Given the description of an element on the screen output the (x, y) to click on. 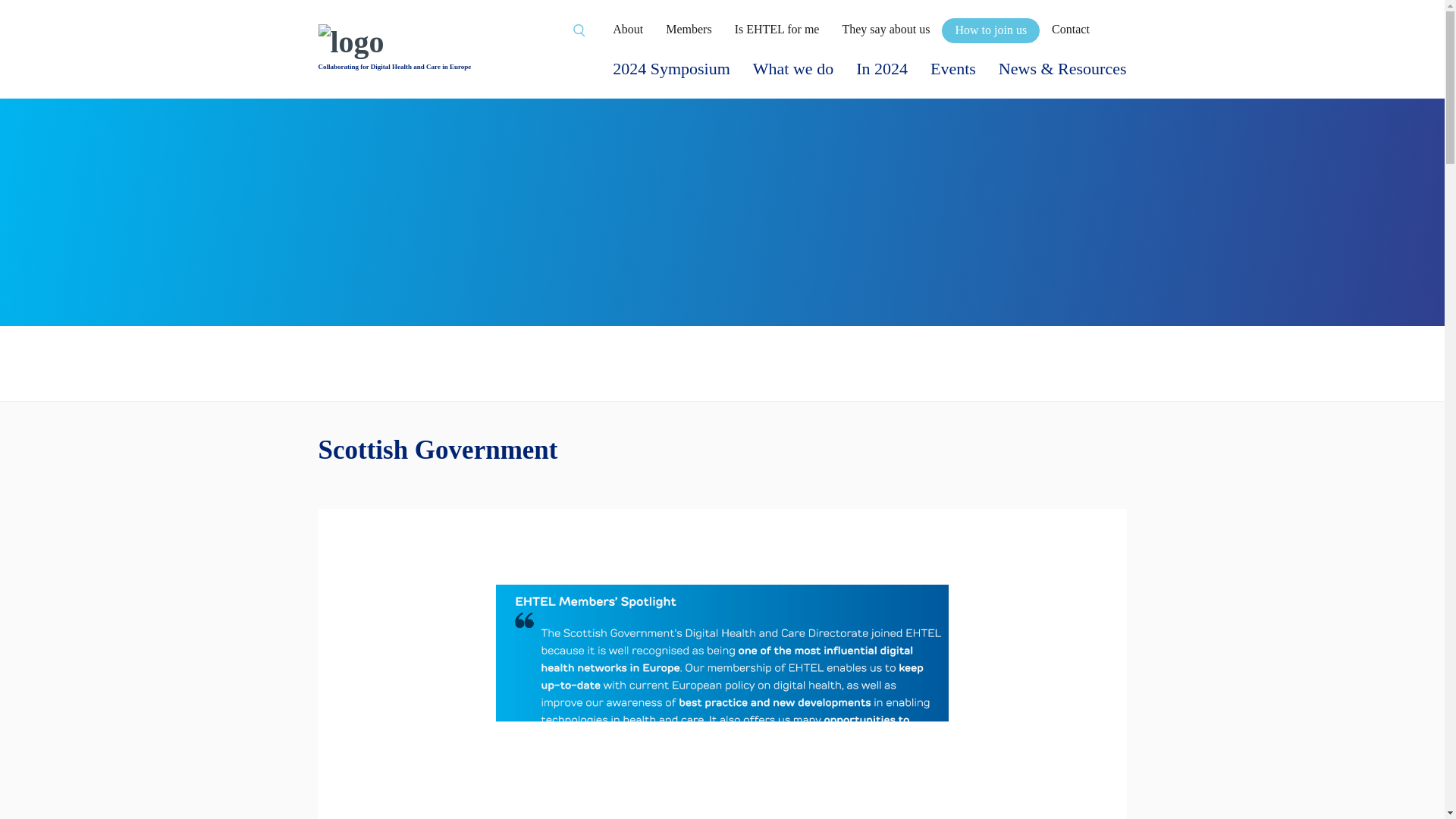
Members (688, 29)
What we do (792, 68)
Is EHTEL for me (777, 29)
Contact (1070, 29)
They say about us (885, 29)
2024 Symposium (671, 68)
About (627, 29)
How to join us (990, 30)
